Given the description of an element on the screen output the (x, y) to click on. 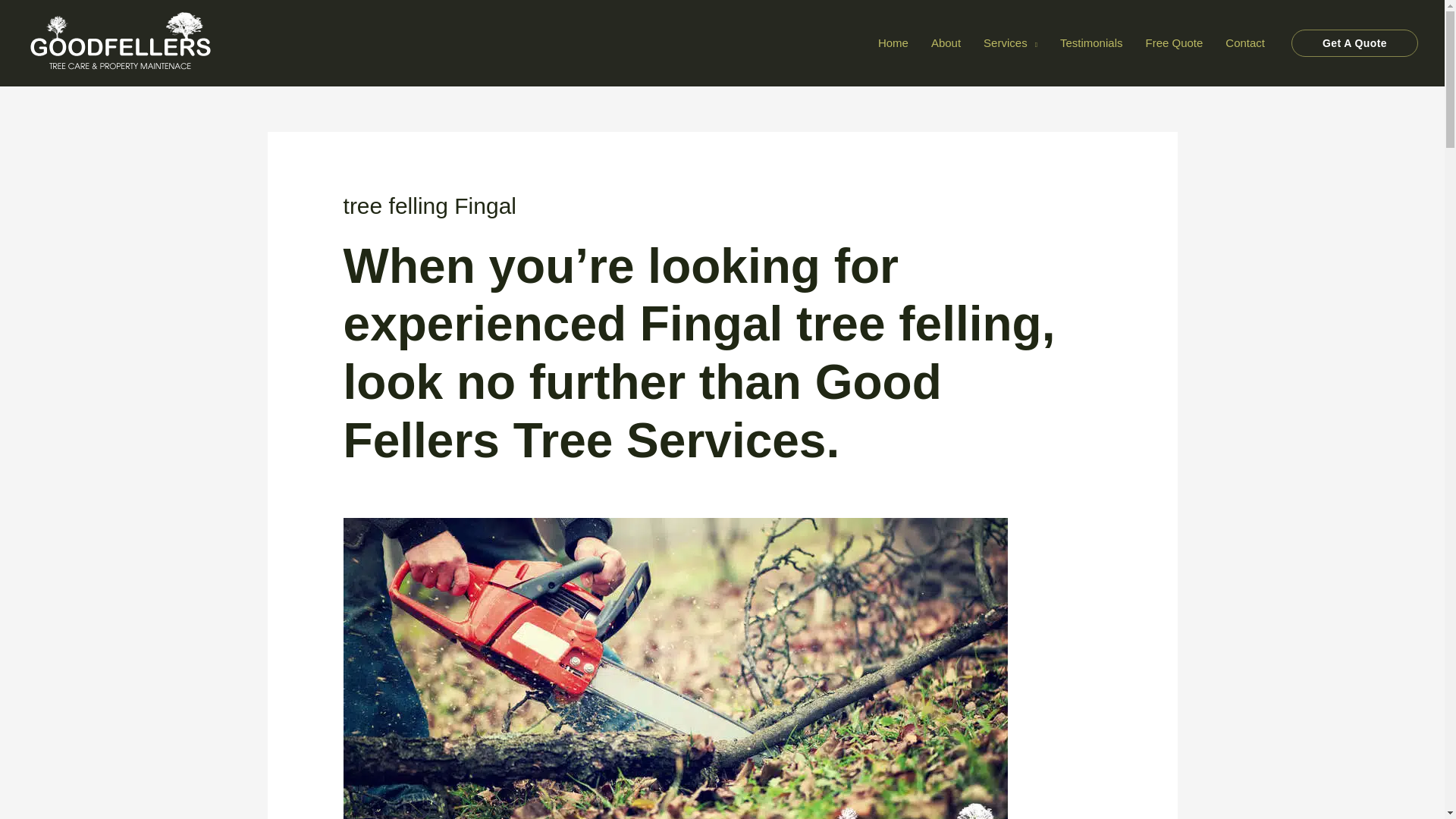
Contact (1245, 42)
Free Quote (1174, 42)
Testimonials (1091, 42)
Services (1010, 42)
Get A Quote (1354, 42)
Home (893, 42)
About (946, 42)
